Given the description of an element on the screen output the (x, y) to click on. 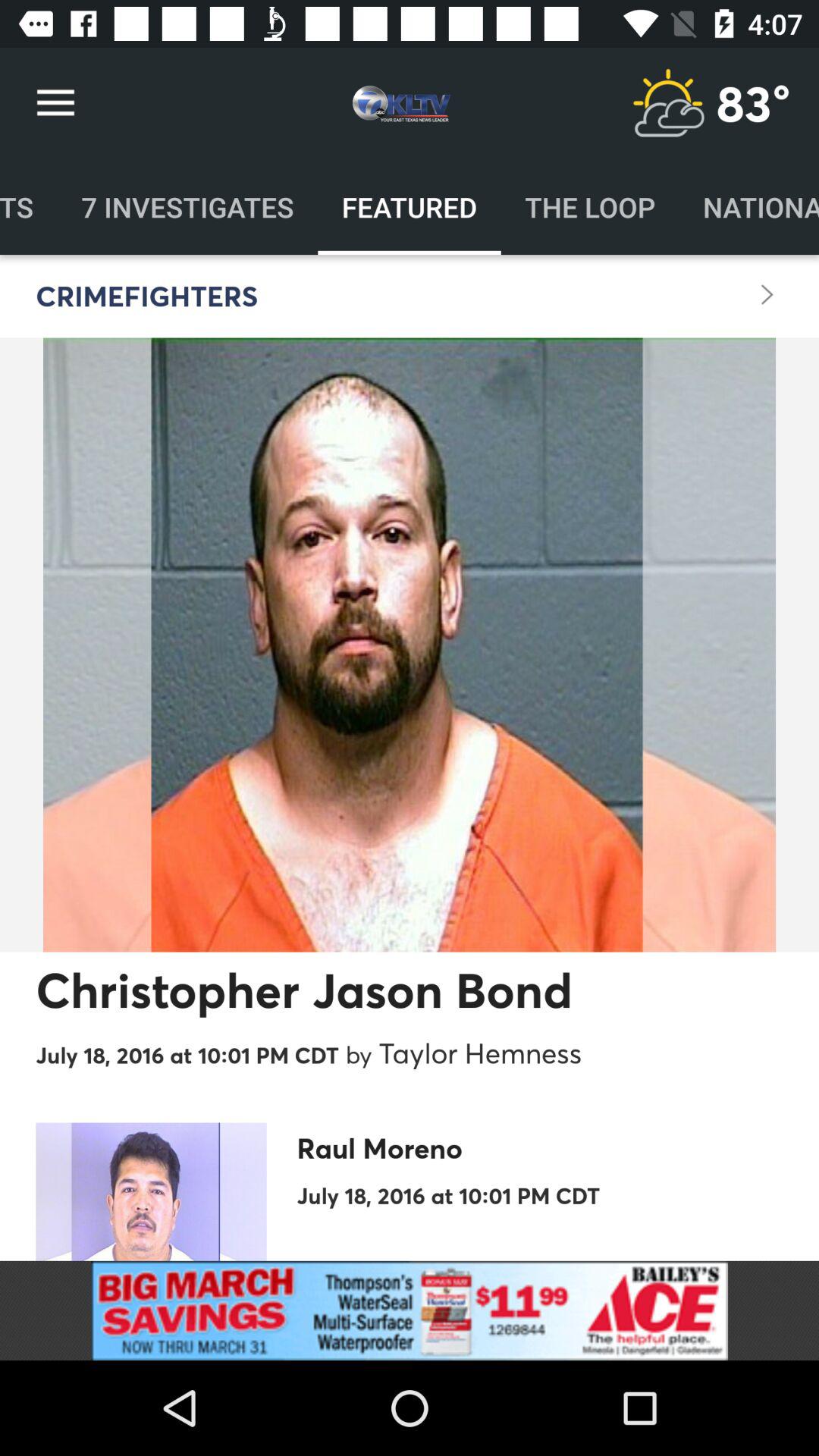
open the weather (668, 103)
